Given the description of an element on the screen output the (x, y) to click on. 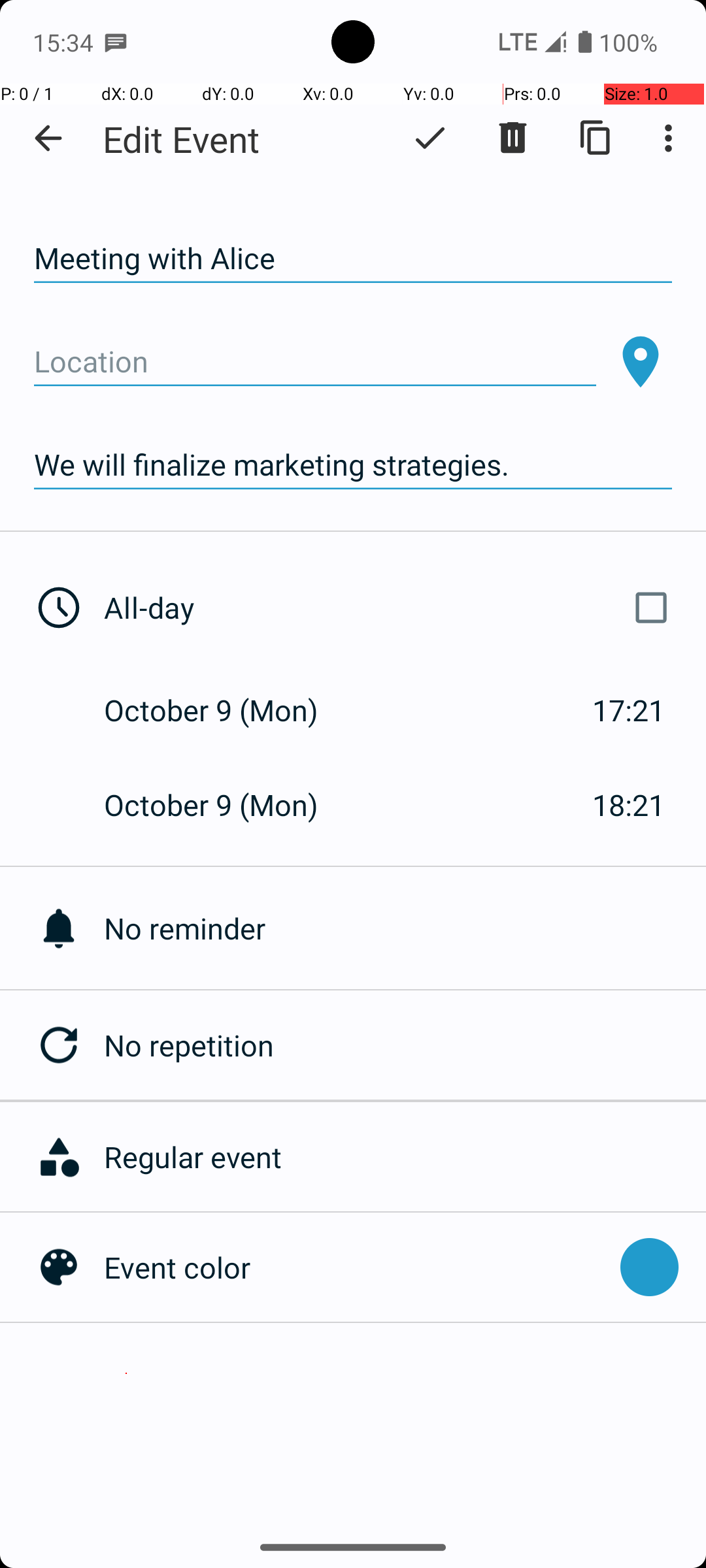
Meeting with Alice Element type: android.widget.EditText (352, 258)
We will finalize marketing strategies. Element type: android.widget.EditText (352, 465)
October 9 (Mon) Element type: android.widget.TextView (224, 709)
17:21 Element type: android.widget.TextView (628, 709)
18:21 Element type: android.widget.TextView (628, 804)
